Given the description of an element on the screen output the (x, y) to click on. 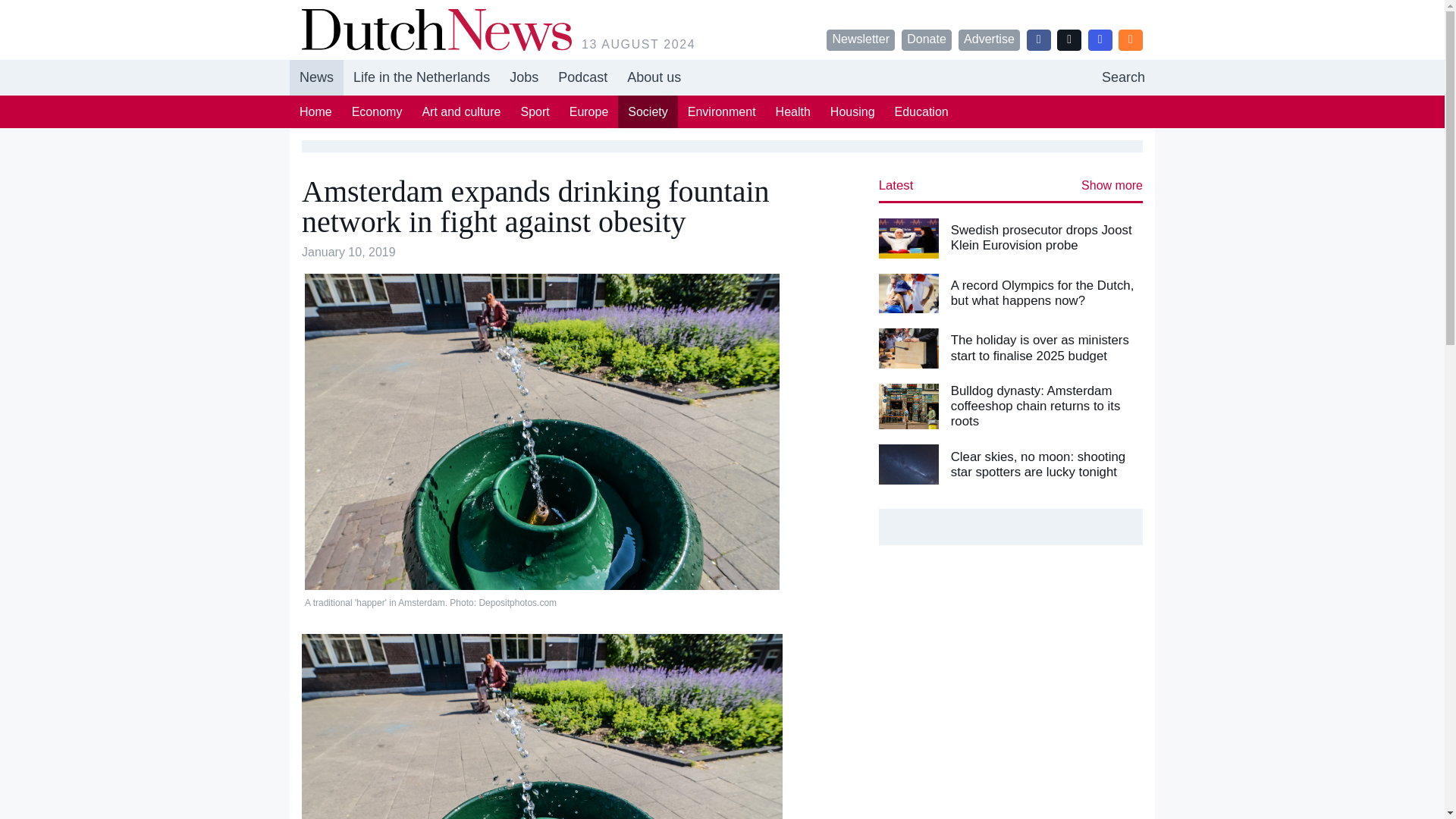
hidden-in-footer (1123, 77)
Home (315, 111)
About us (653, 77)
Podcast (721, 77)
Art and culture (582, 77)
Society (461, 111)
Sport (647, 111)
Donate (535, 111)
